Given the description of an element on the screen output the (x, y) to click on. 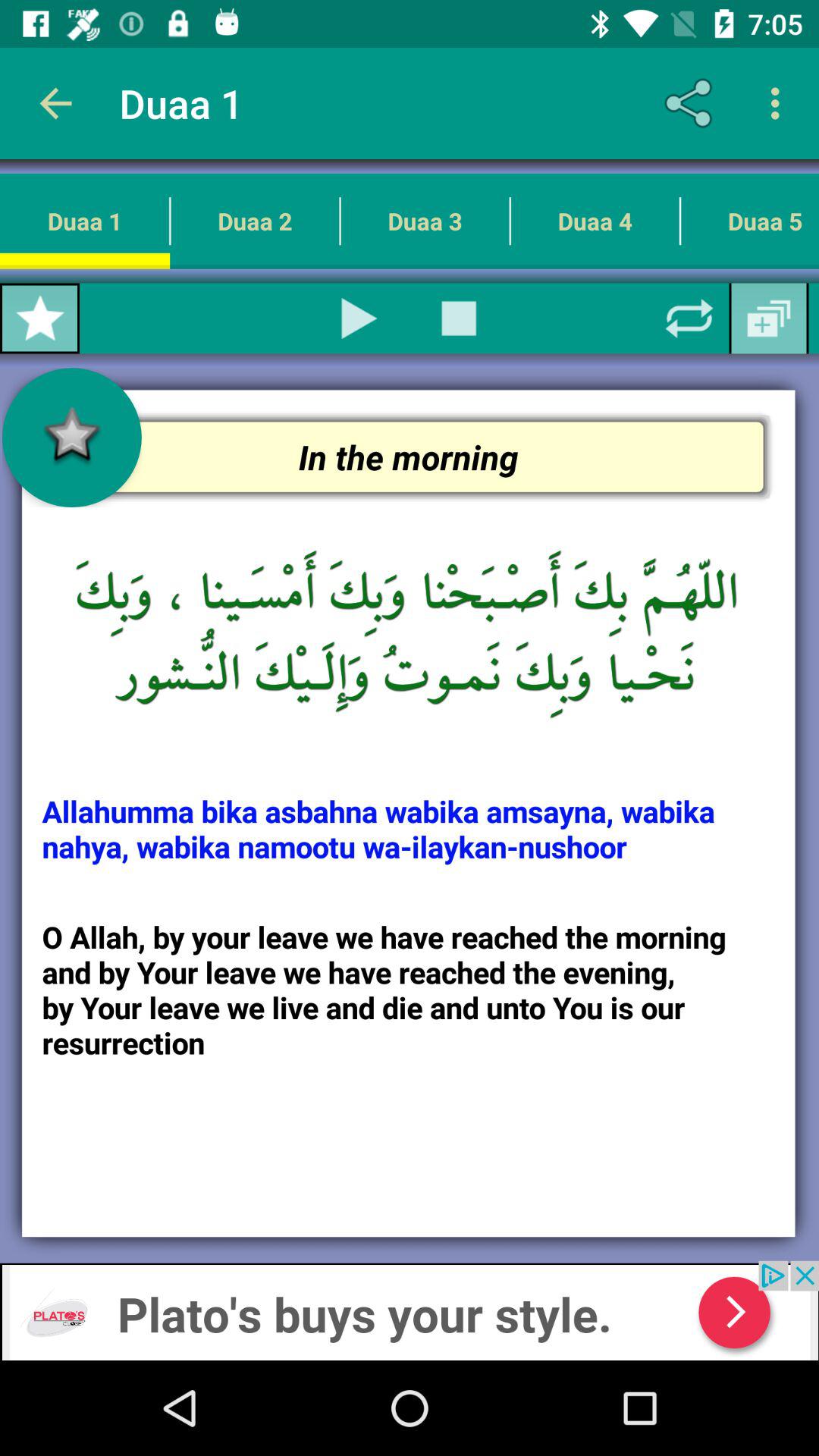
choose the duaa 5 (749, 221)
